Given the description of an element on the screen output the (x, y) to click on. 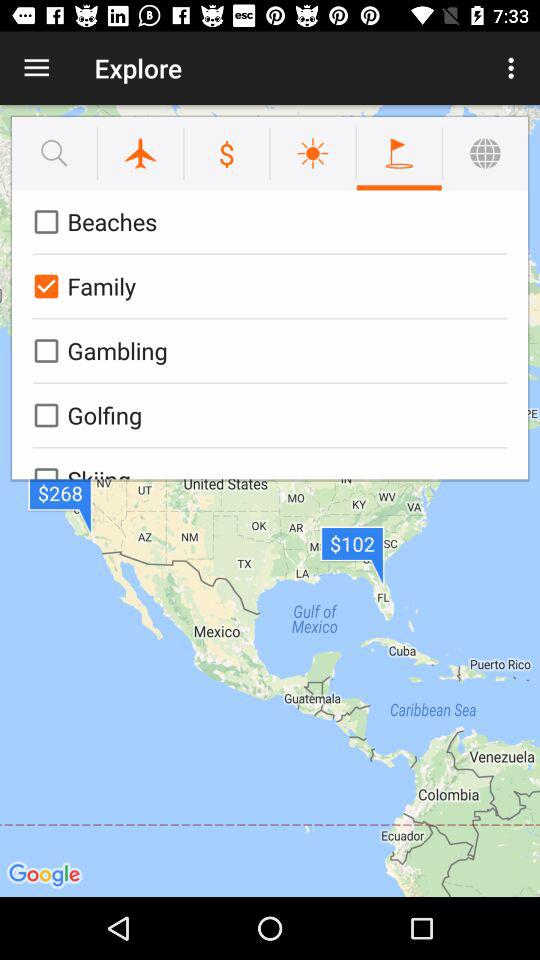
press the golfing icon (266, 415)
